Given the description of an element on the screen output the (x, y) to click on. 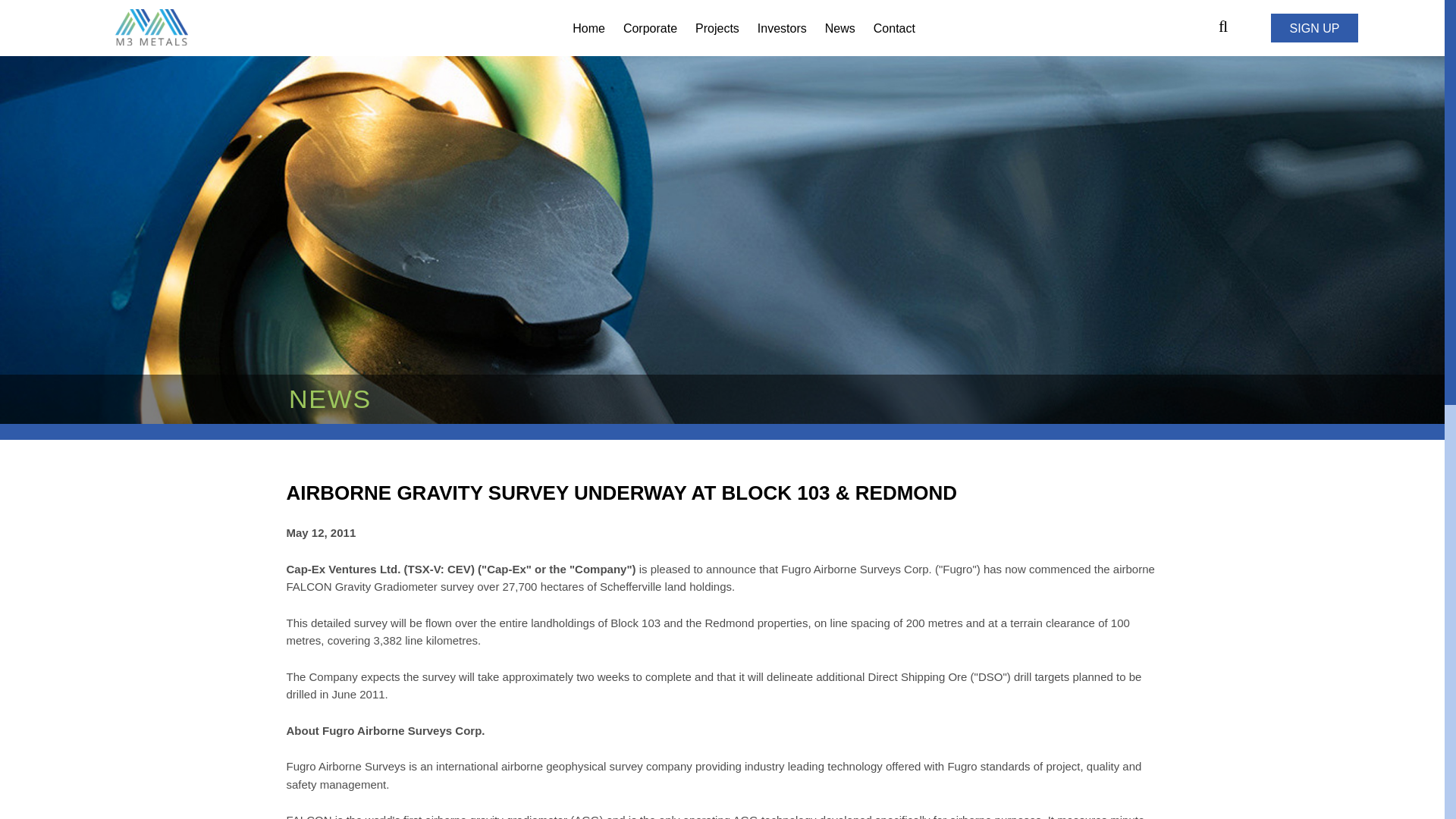
Home (588, 28)
Projects (717, 28)
Corporate (650, 28)
